Given the description of an element on the screen output the (x, y) to click on. 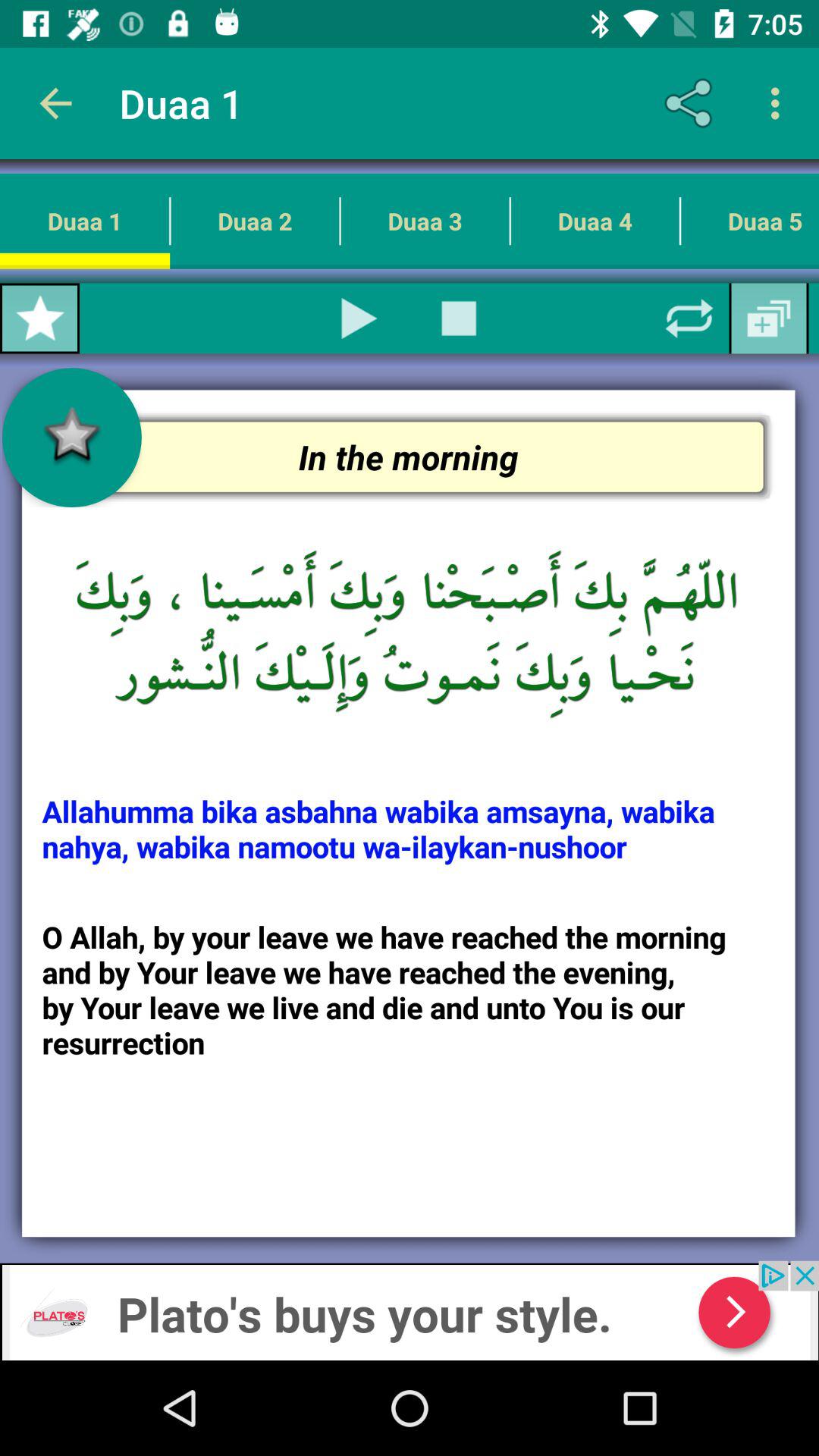
press the app next to duaa 1 app (55, 103)
